Given the description of an element on the screen output the (x, y) to click on. 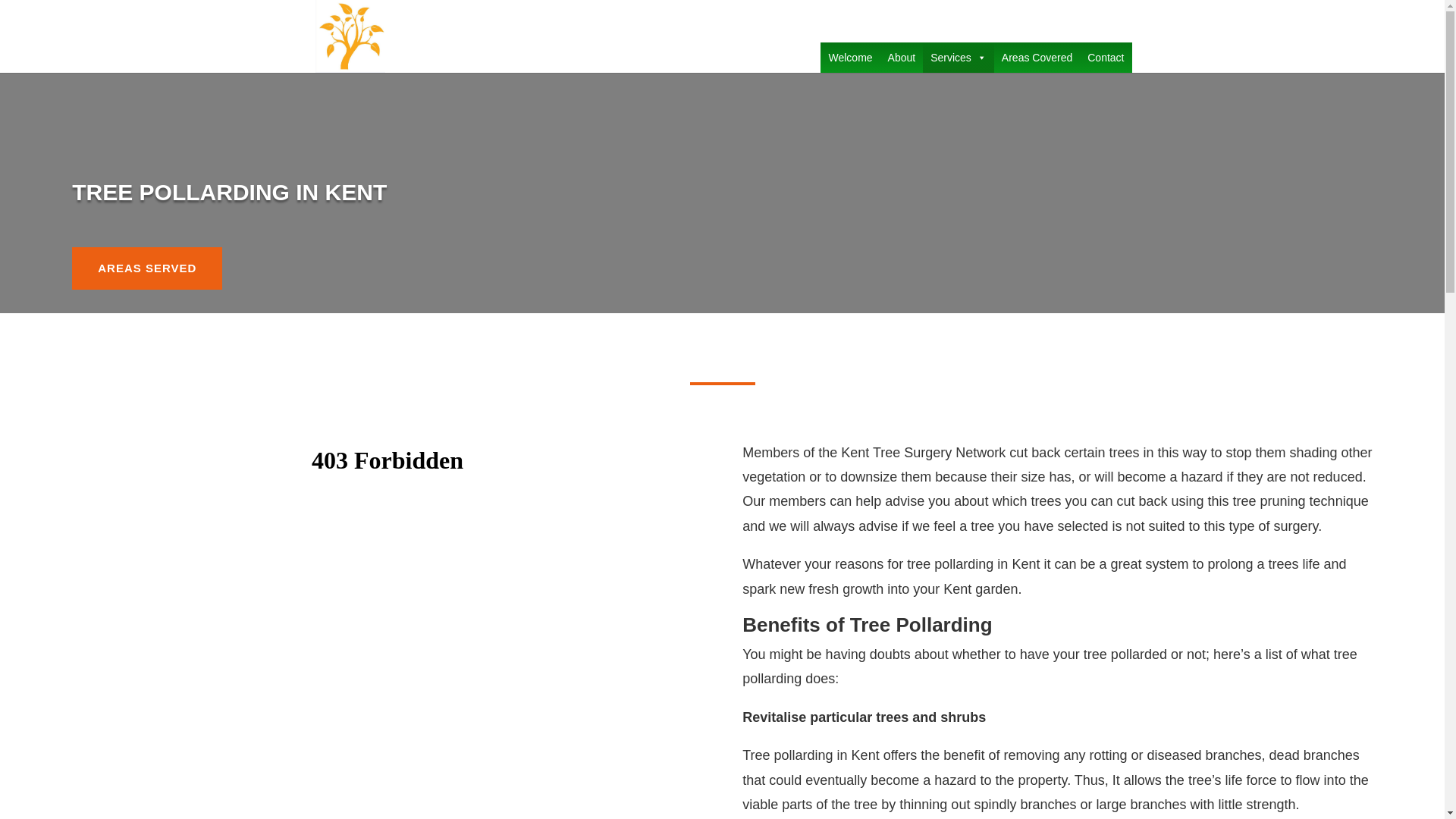
About (901, 57)
Contact (1105, 57)
Services (958, 57)
Areas Covered (1037, 57)
Welcome (850, 57)
AREAS SERVED (146, 268)
